Given the description of an element on the screen output the (x, y) to click on. 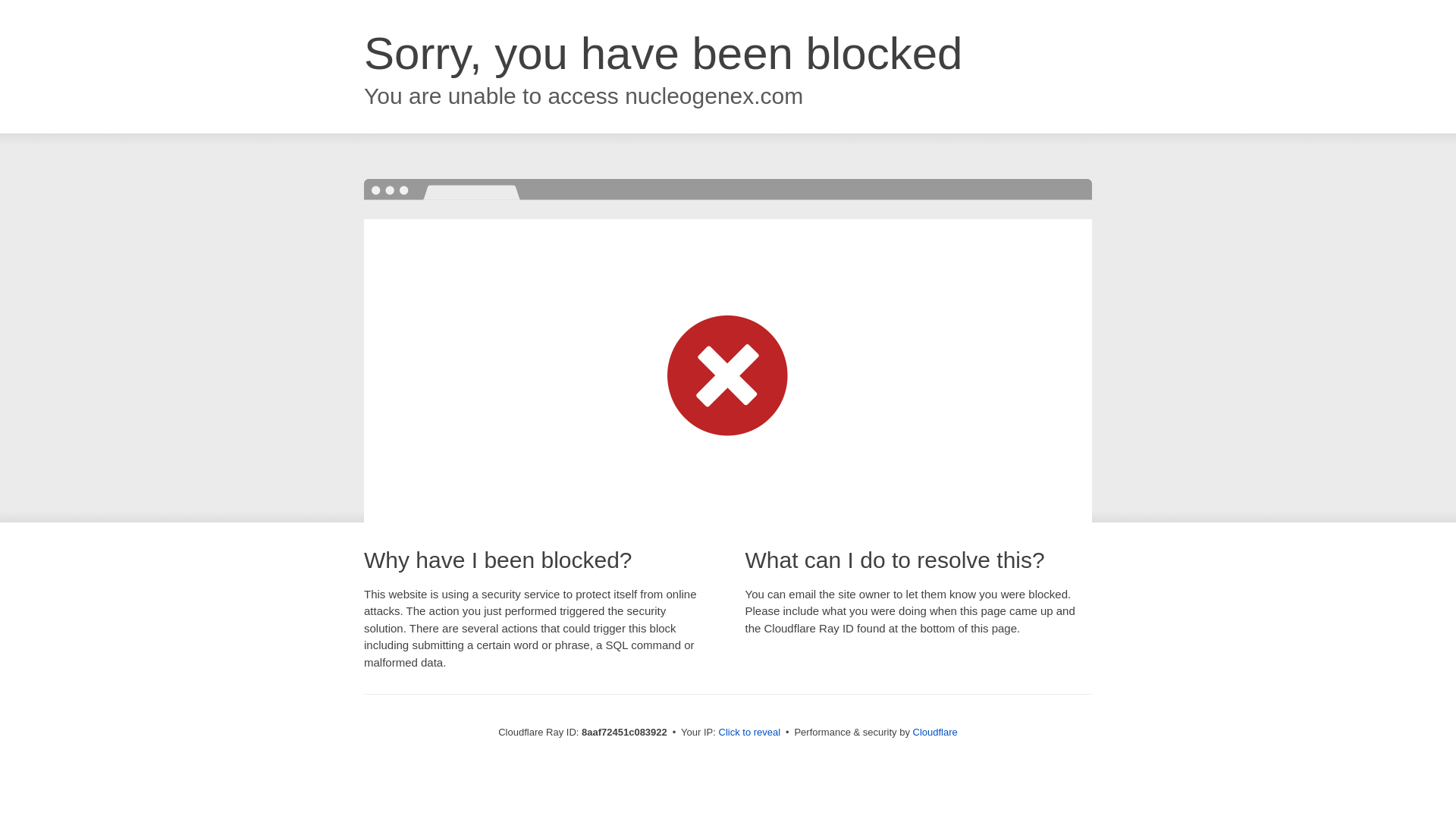
Cloudflare (935, 731)
Click to reveal (749, 732)
